Given the description of an element on the screen output the (x, y) to click on. 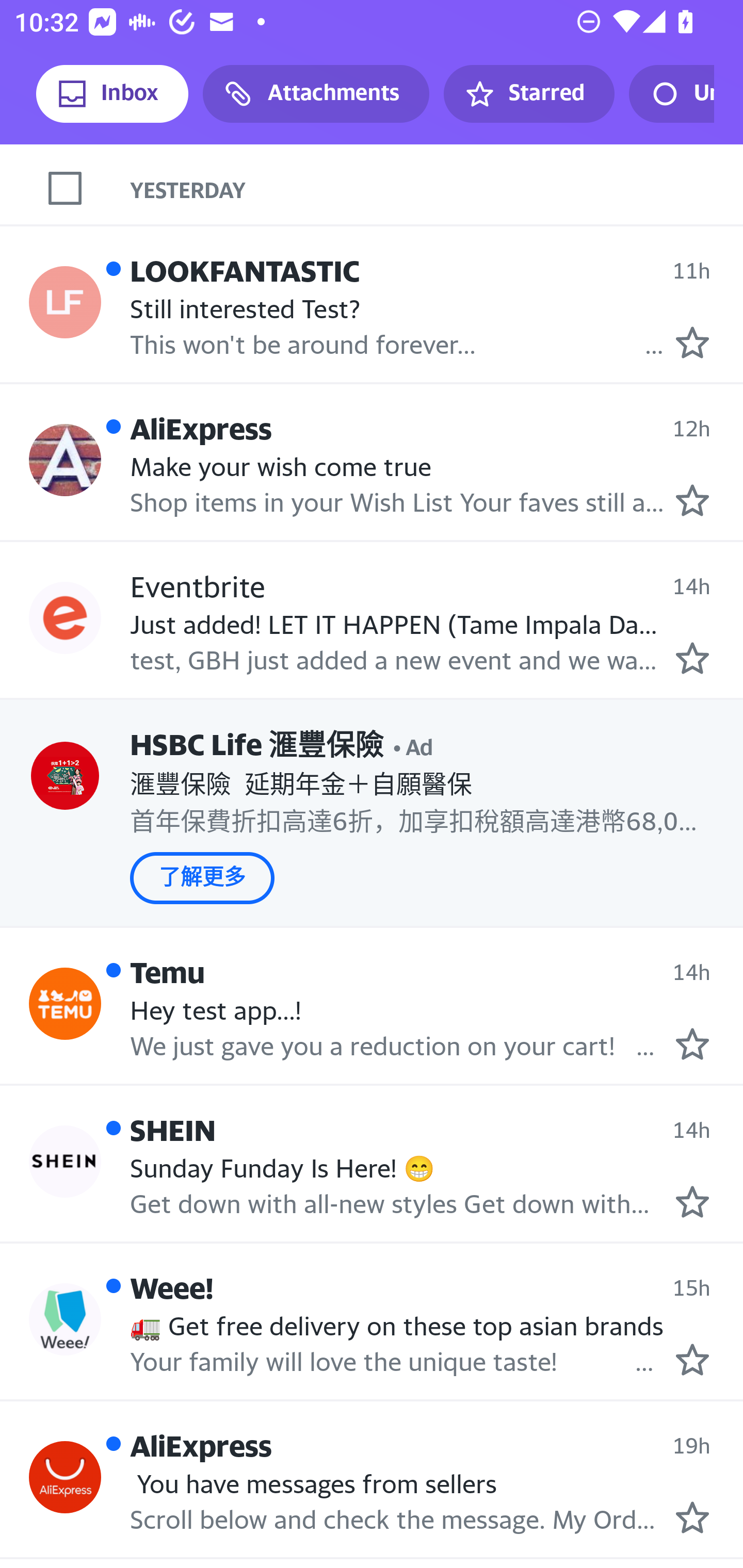
Attachments (315, 93)
Starred (528, 93)
YESTERDAY (436, 188)
Profile
LOOKFANTASTIC (64, 302)
Mark as starred. (692, 342)
Profile
AliExpress (64, 459)
Mark as starred. (692, 500)
Profile
Eventbrite (64, 617)
Mark as starred. (692, 657)
• Ad (413, 744)
Profile
Temu (64, 1003)
Mark as starred. (692, 1043)
Profile
SHEIN (64, 1161)
Mark as starred. (692, 1201)
Profile
Weee! (64, 1318)
Mark as starred. (692, 1360)
Profile
AliExpress (64, 1476)
Mark as starred. (692, 1517)
